Given the description of an element on the screen output the (x, y) to click on. 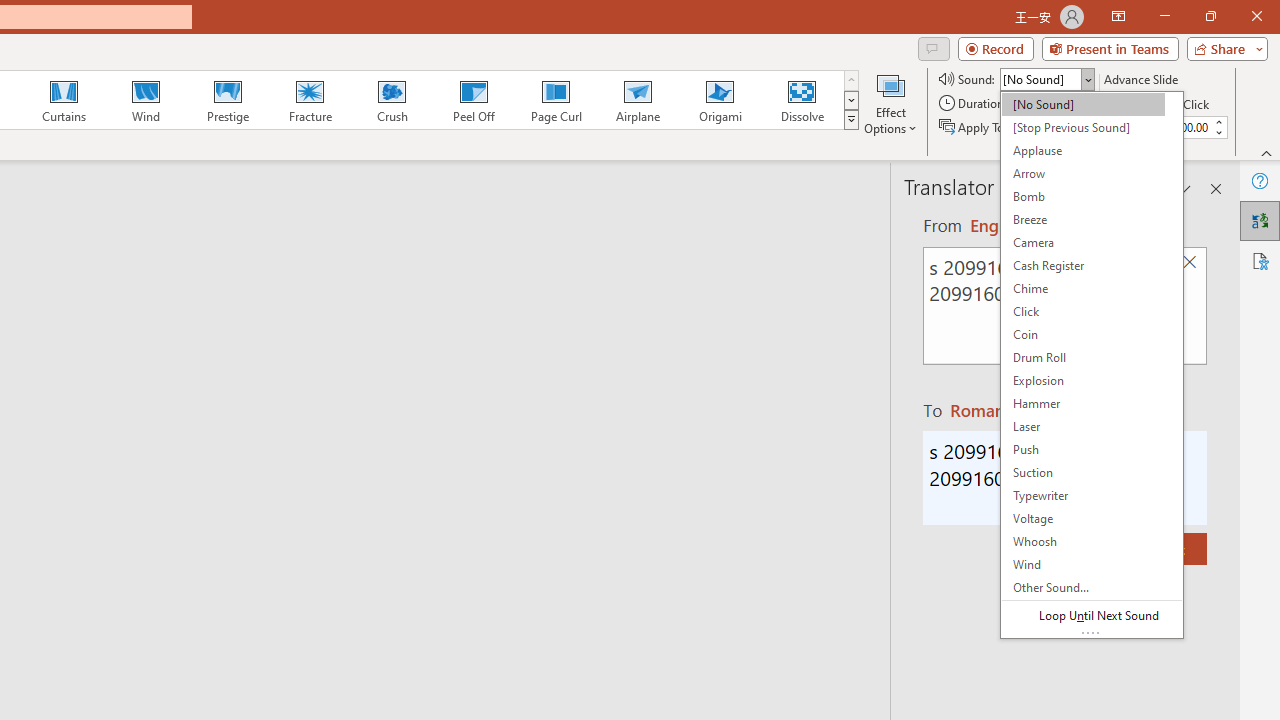
Effect Options (890, 102)
